Given the description of an element on the screen output the (x, y) to click on. 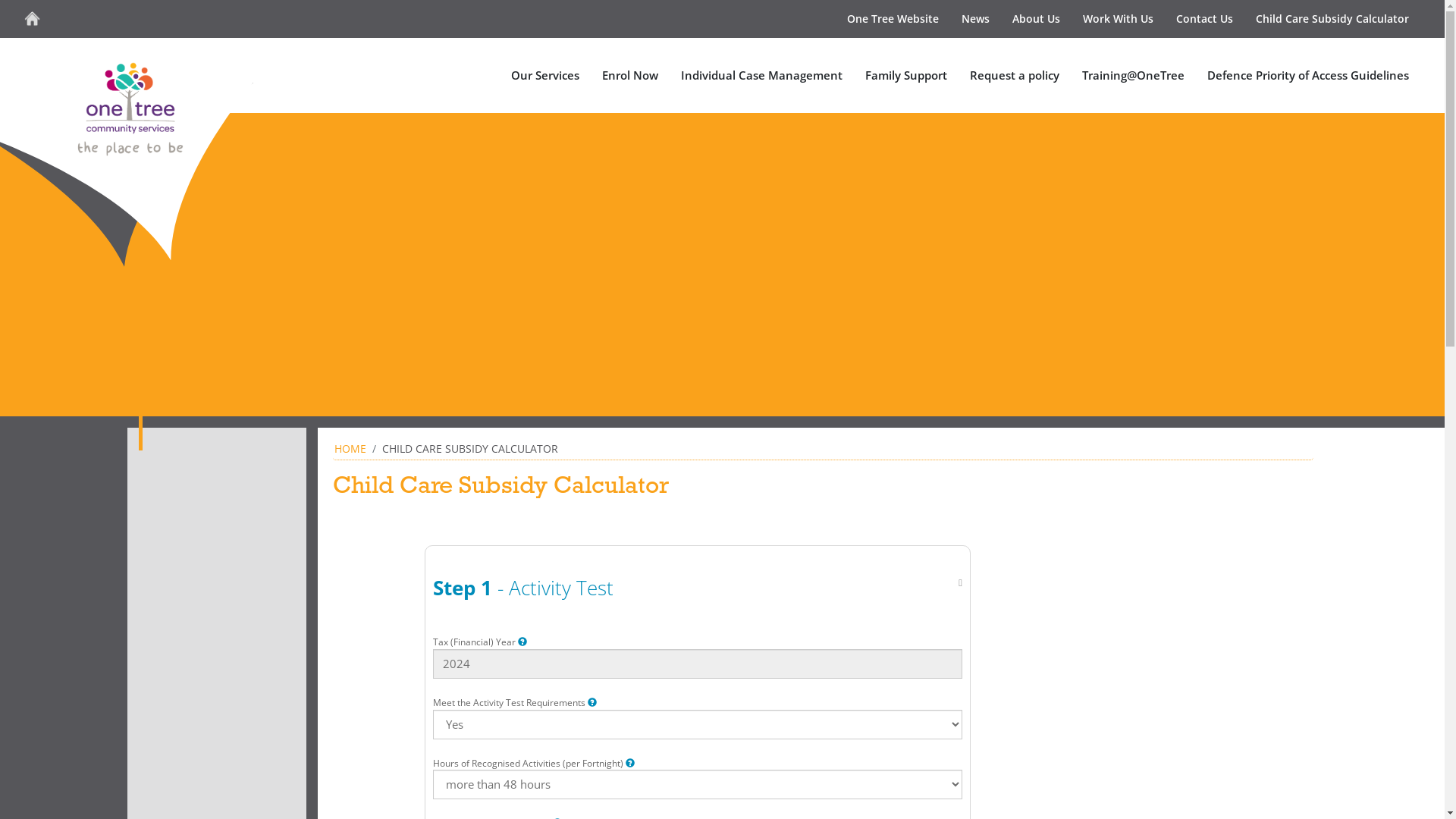
Work With Us Element type: text (1117, 18)
Child Care Subsidy Calculator Element type: text (1332, 18)
One Tree Website Element type: text (892, 18)
Individual Case Management Element type: text (761, 74)
About Us Element type: text (1036, 18)
News Element type: text (975, 18)
Request a policy Element type: text (1014, 74)
Defence Priority of Access Guidelines Element type: text (1307, 74)
Enrol Now Element type: text (629, 74)
Our Services Element type: text (544, 74)
HOME Element type: text (350, 448)
Family Support Element type: text (905, 74)
Contact Us Element type: text (1204, 18)
Training@OneTree Element type: text (1132, 74)
